Given the description of an element on the screen output the (x, y) to click on. 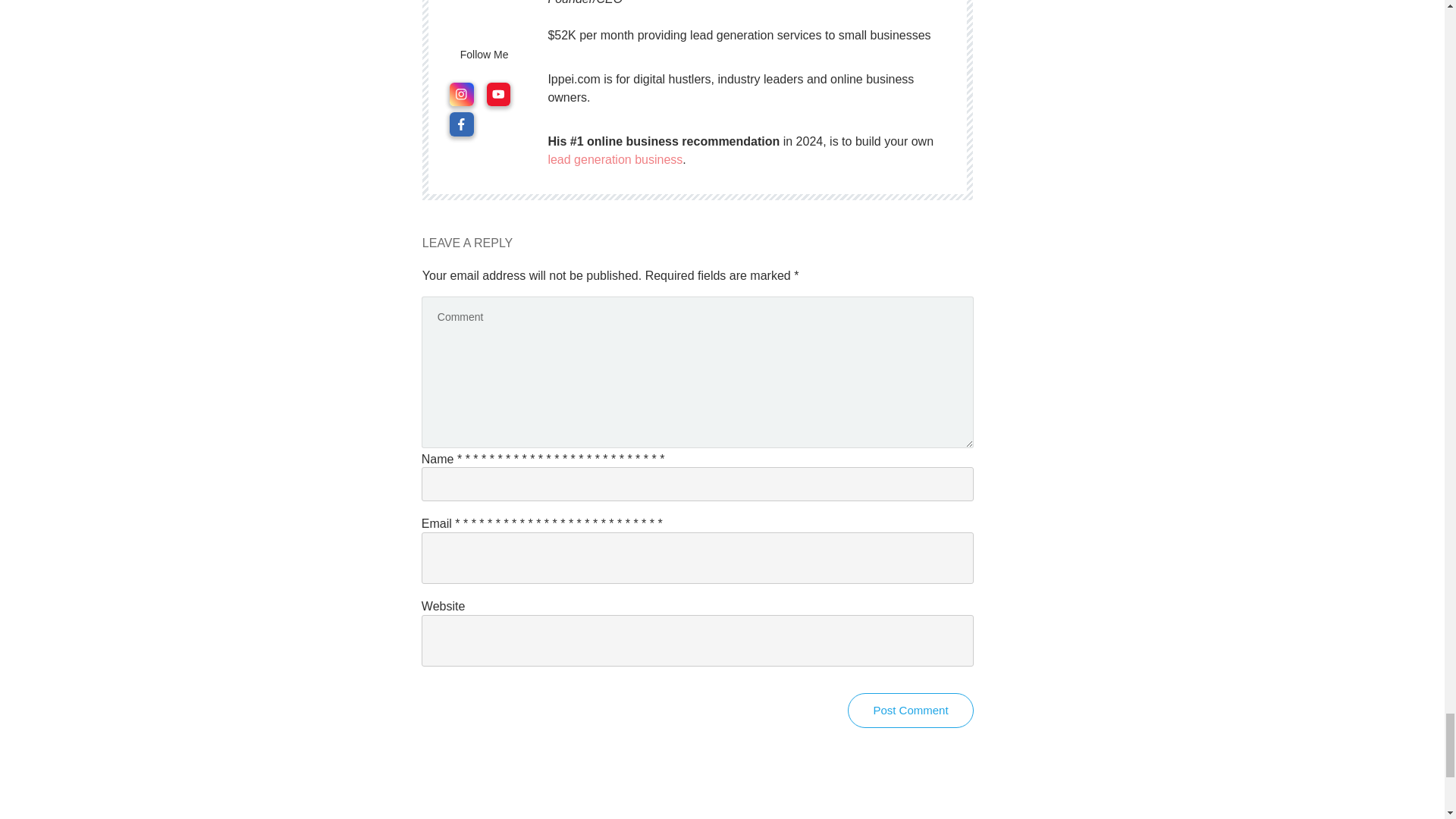
ippei-kanehara-cropped (484, 18)
Post Comment (909, 710)
lead generation business (614, 159)
